Given the description of an element on the screen output the (x, y) to click on. 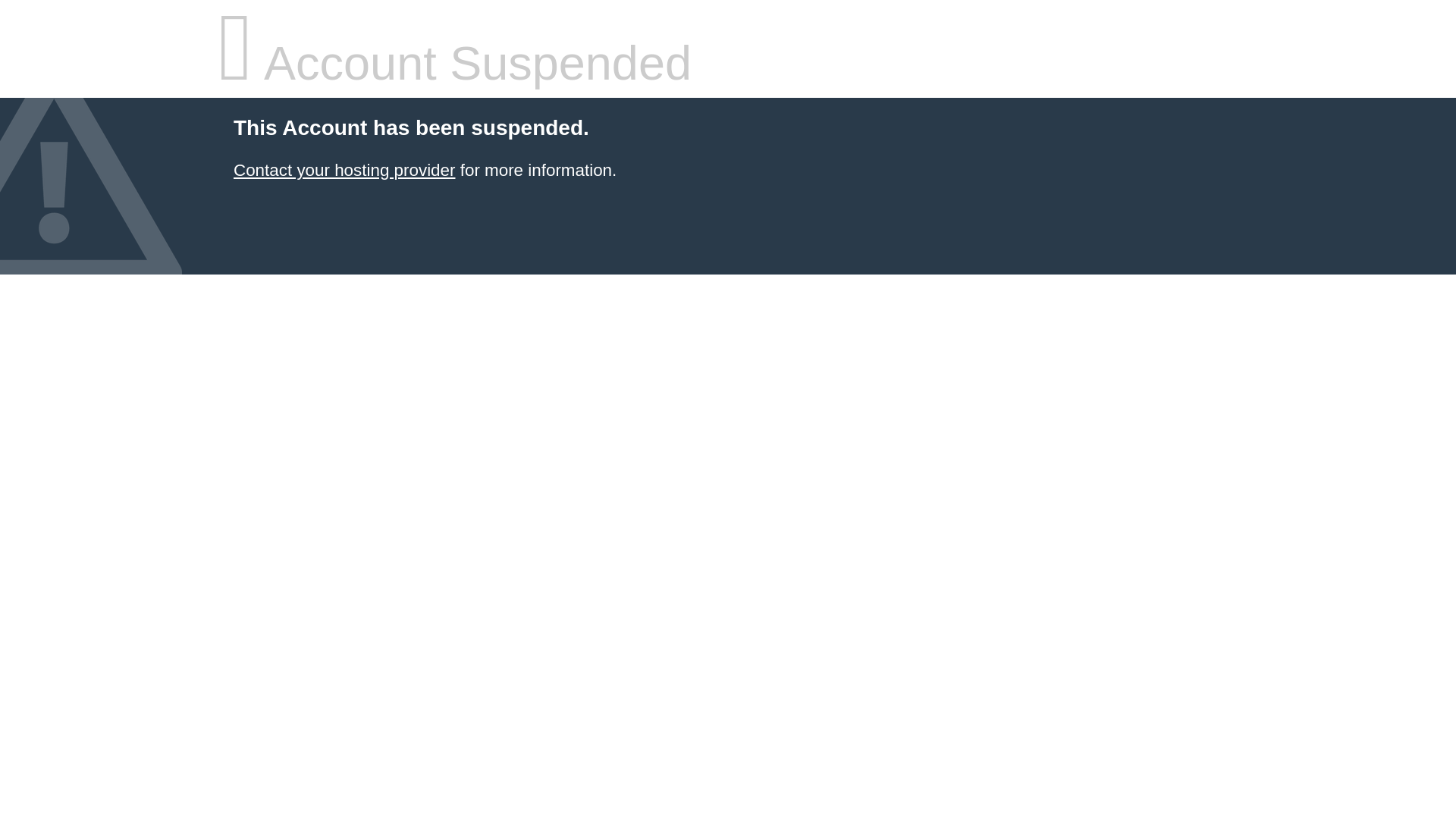
Contact your hosting provider (343, 169)
